Given the description of an element on the screen output the (x, y) to click on. 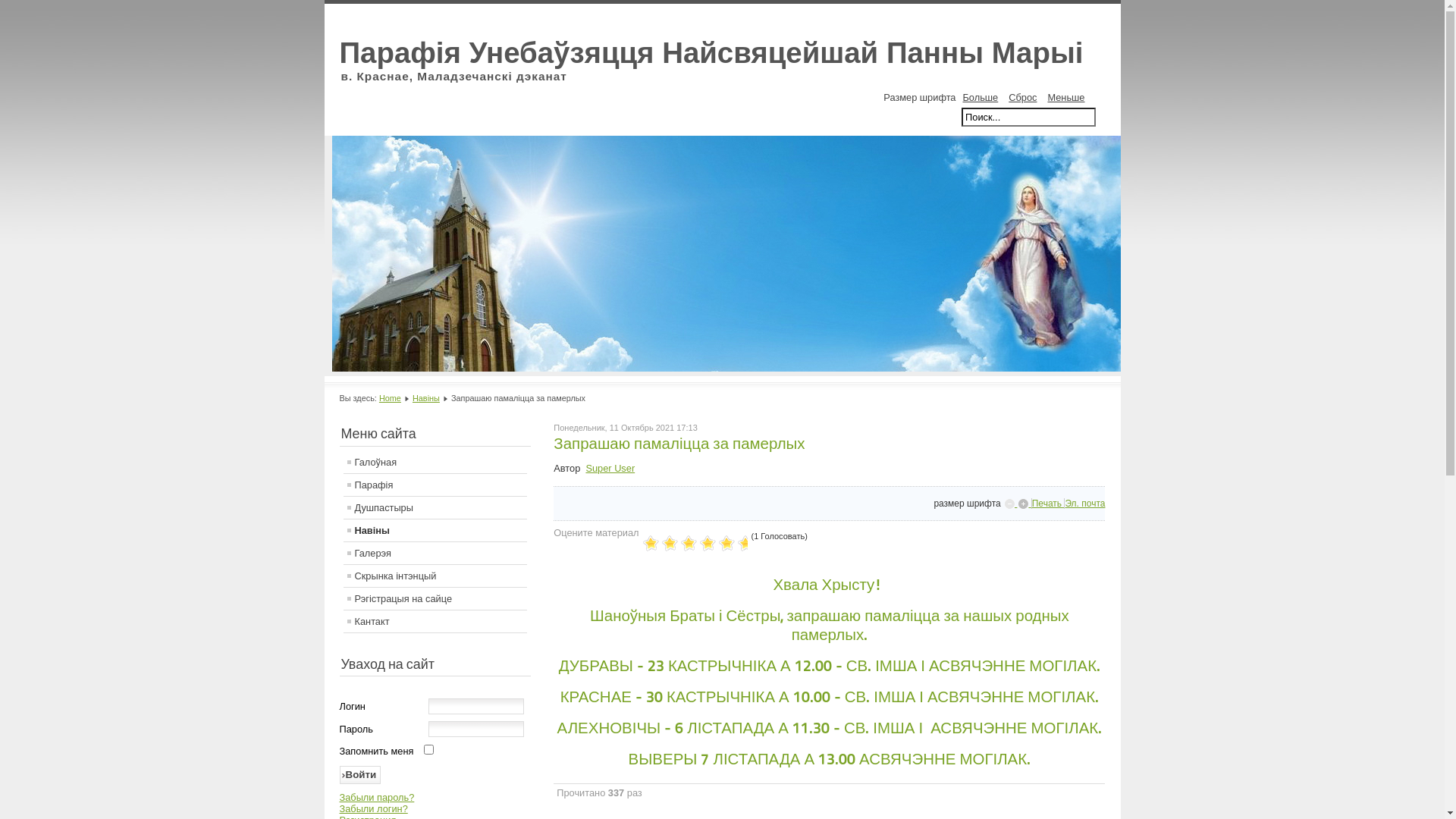
4 Element type: text (683, 543)
Home Element type: text (390, 397)
Super User Element type: text (609, 467)
5 Element type: text (694, 543)
3 Element type: text (673, 543)
1 Element type: text (651, 543)
2 Element type: text (662, 543)
